Given the description of an element on the screen output the (x, y) to click on. 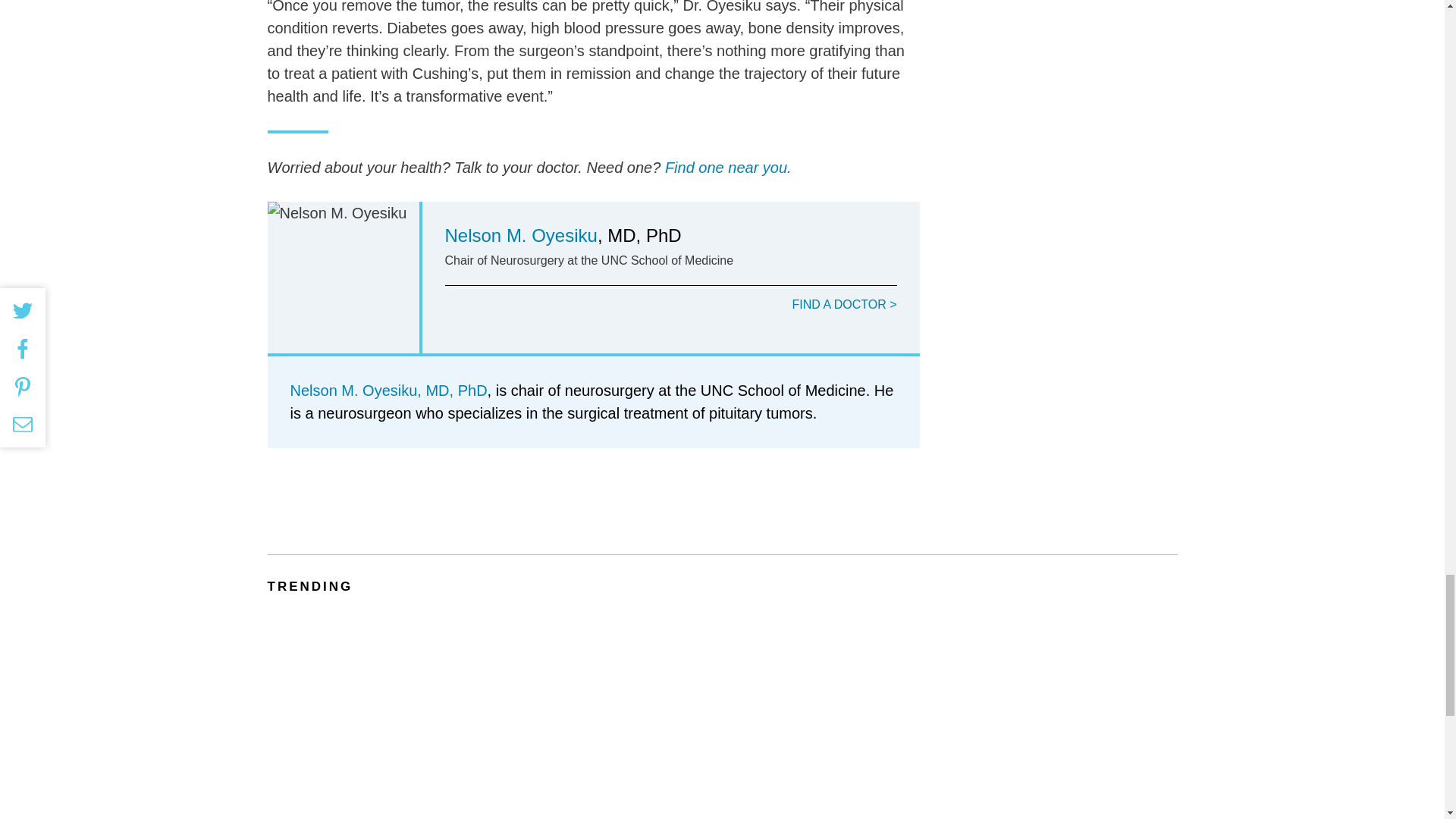
Find one near you. (728, 167)
Nelson M. Oyesiku (520, 235)
FIND A DOCTOR (844, 304)
Nelson M. Oyesiku, MD, PhD (387, 390)
